Given the description of an element on the screen output the (x, y) to click on. 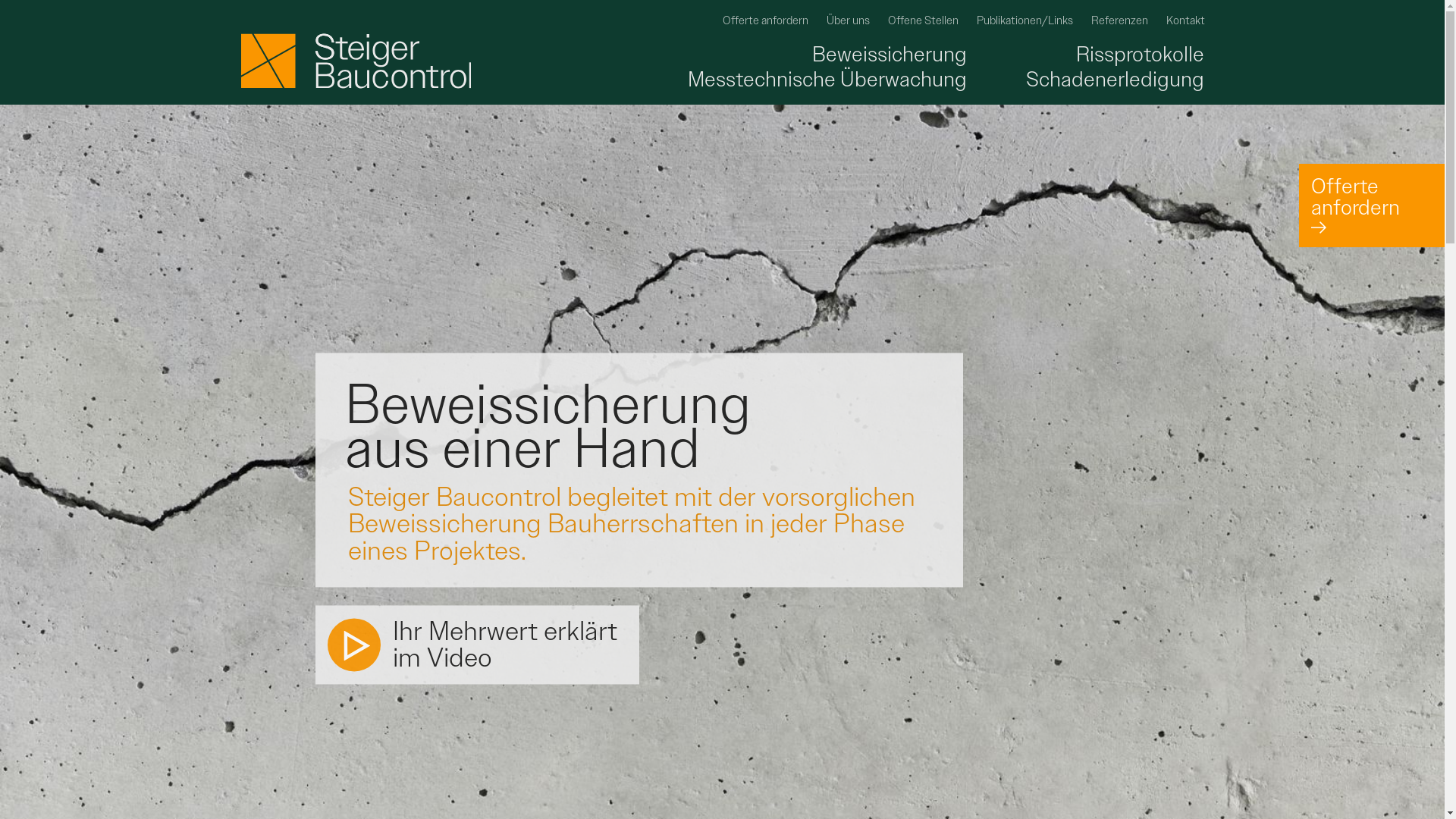
Rissprotokolle Element type: text (1085, 53)
Schadenerledigung Element type: text (1085, 79)
Beweissicherung Element type: text (729, 53)
Publikationen/Links Element type: text (1024, 20)
Referenzen Element type: text (1118, 20)
Offerte anfordern Element type: text (764, 20)
Kontakt Element type: text (1185, 20)
Offene Stellen Element type: text (922, 20)
Offerte anfordern Element type: text (1371, 205)
